Given the description of an element on the screen output the (x, y) to click on. 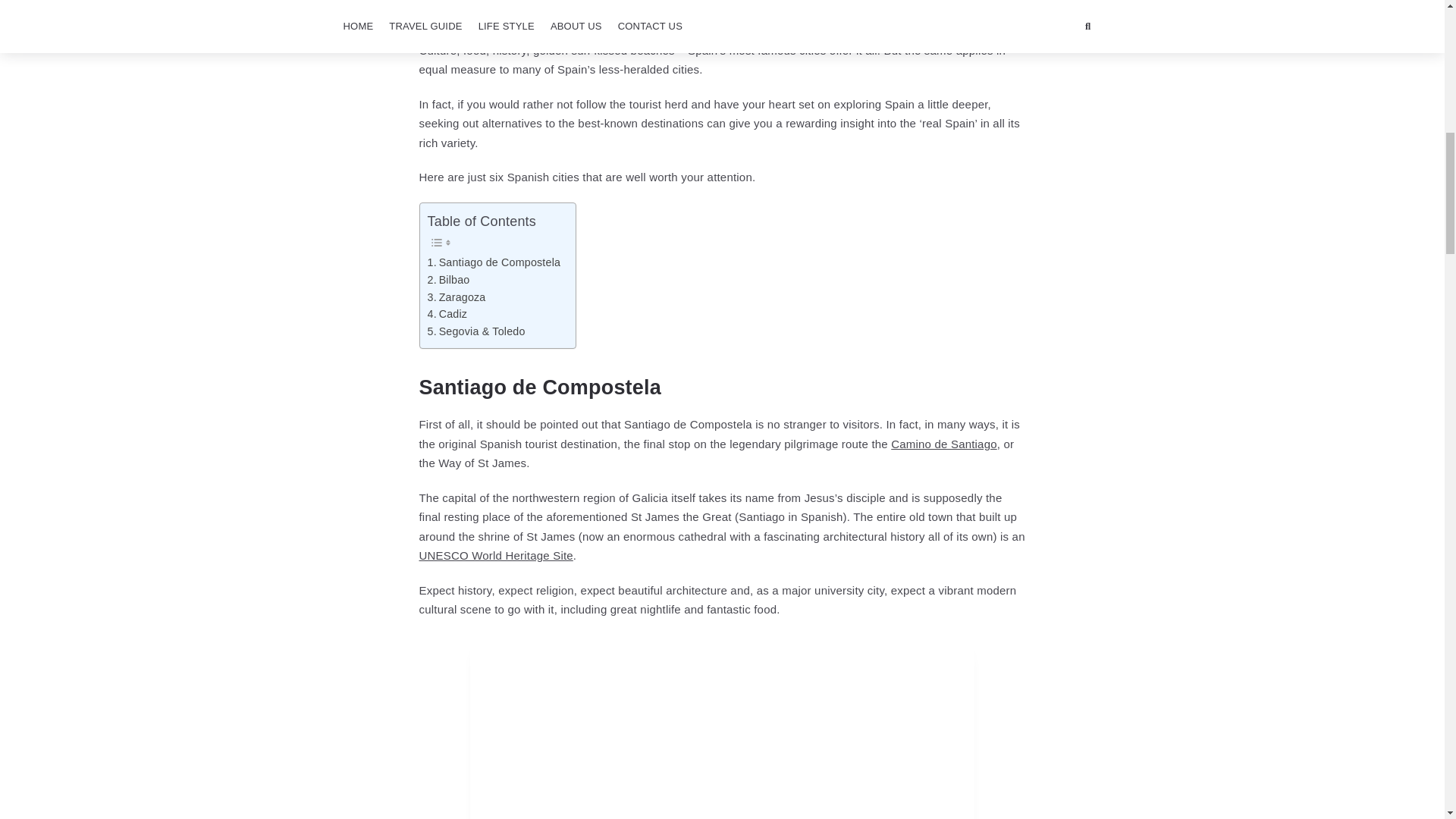
Cadiz (447, 313)
UNESCO World Heritage Site (495, 554)
Bilbao (449, 280)
Cadiz (447, 313)
Zaragoza (457, 297)
Santiago de Compostela (494, 262)
Santiago de Compostela (494, 262)
Zaragoza (457, 297)
Camino de Santiago (944, 443)
Bilbao (449, 280)
